Given the description of an element on the screen output the (x, y) to click on. 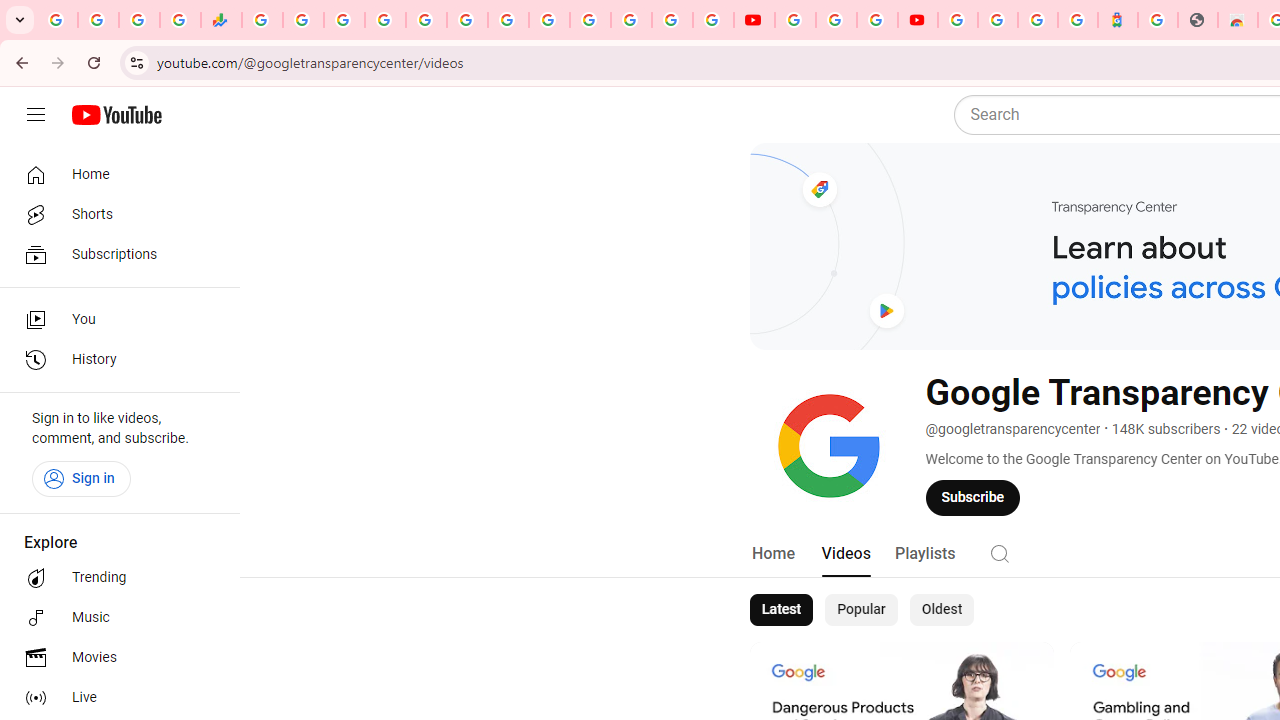
Google Account Help (836, 20)
Google Workspace Admin Community (57, 20)
YouTube (795, 20)
Content Creator Programs & Opportunities - YouTube Creators (918, 20)
Live (113, 697)
